Given the description of an element on the screen output the (x, y) to click on. 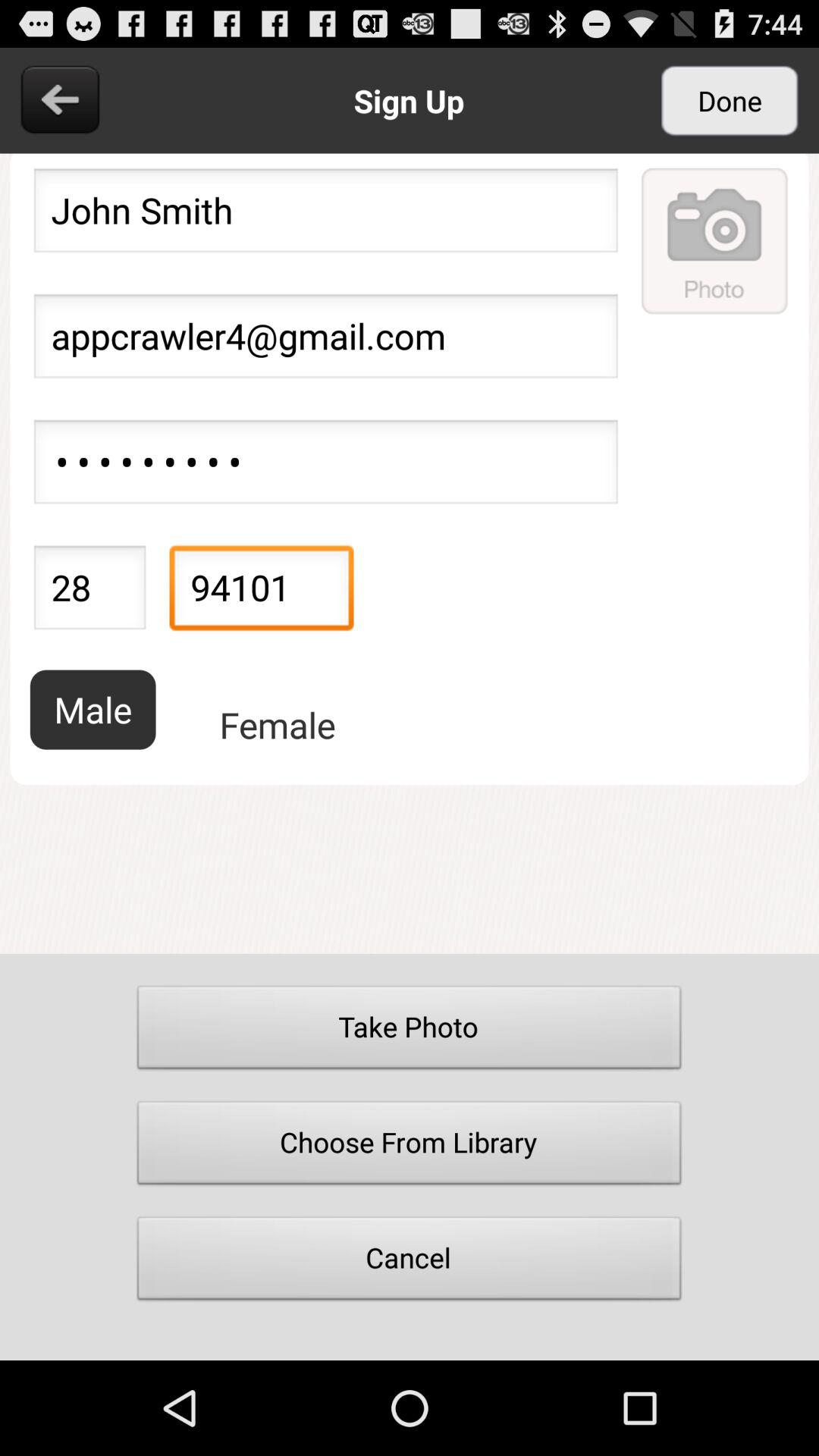
attach photo (714, 240)
